Given the description of an element on the screen output the (x, y) to click on. 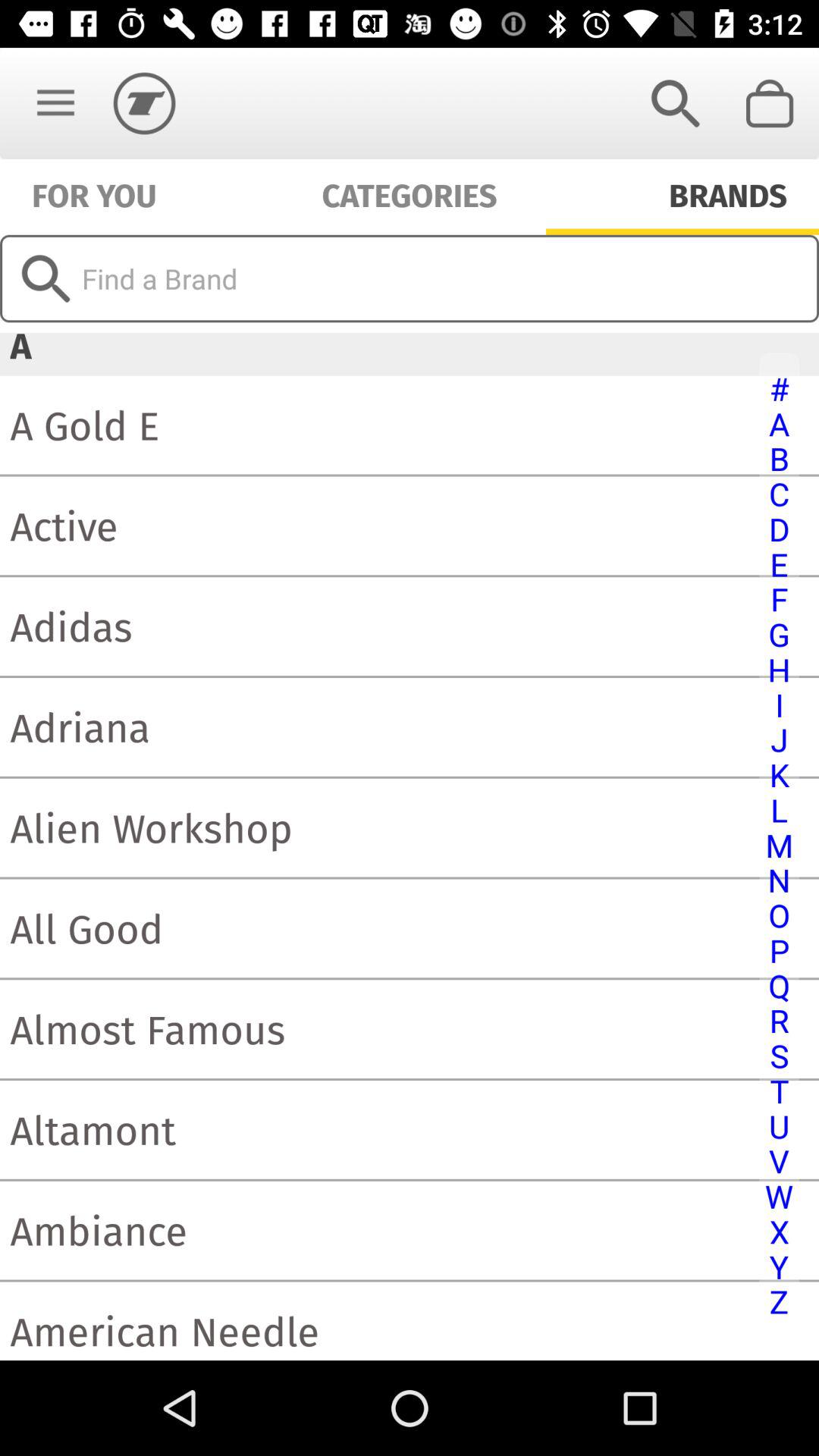
search for specific brand (409, 278)
